Given the description of an element on the screen output the (x, y) to click on. 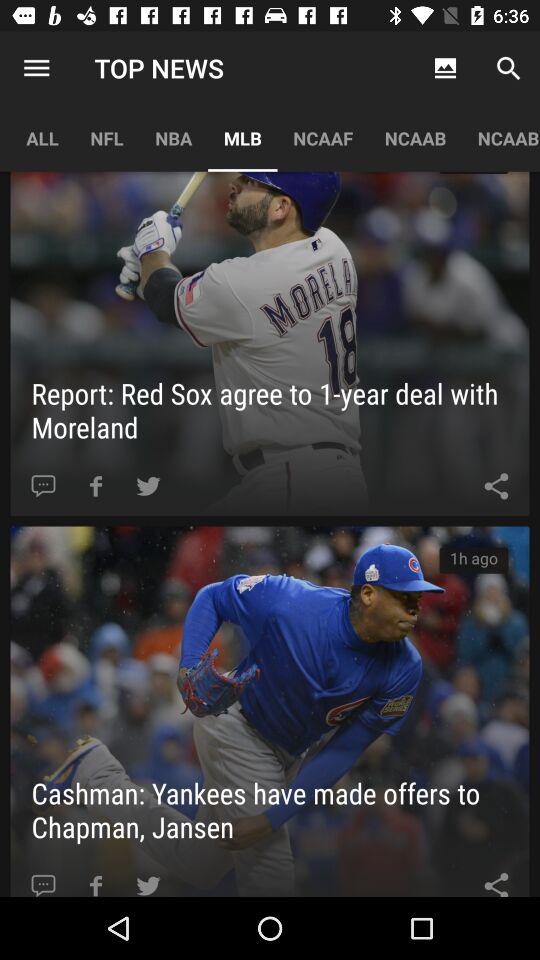
tap the item above the all (36, 68)
